Given the description of an element on the screen output the (x, y) to click on. 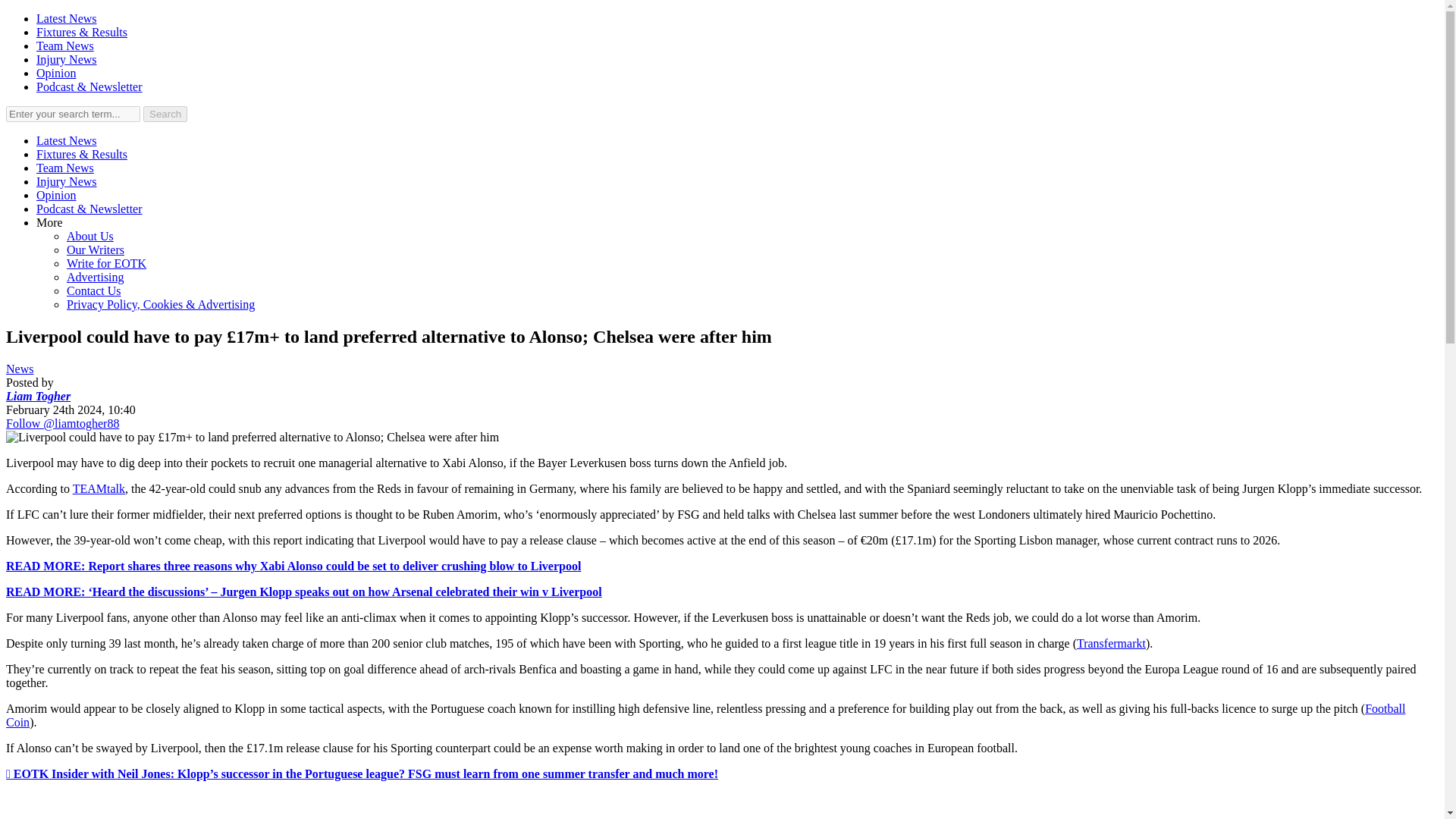
Team News (65, 167)
Search (164, 114)
Liverpool Line-Ups and Team News (65, 45)
Team News (65, 45)
Opinion (55, 195)
Liverpool Line-Ups and Team News (65, 167)
Write for EOTK (106, 263)
Liverpool Opinion Pieces (55, 195)
More (49, 222)
Liam Togher (37, 395)
Latest News (66, 140)
Latest Liverpool News (66, 18)
Football Coin (705, 714)
Liverpool Injury News (66, 59)
